Given the description of an element on the screen output the (x, y) to click on. 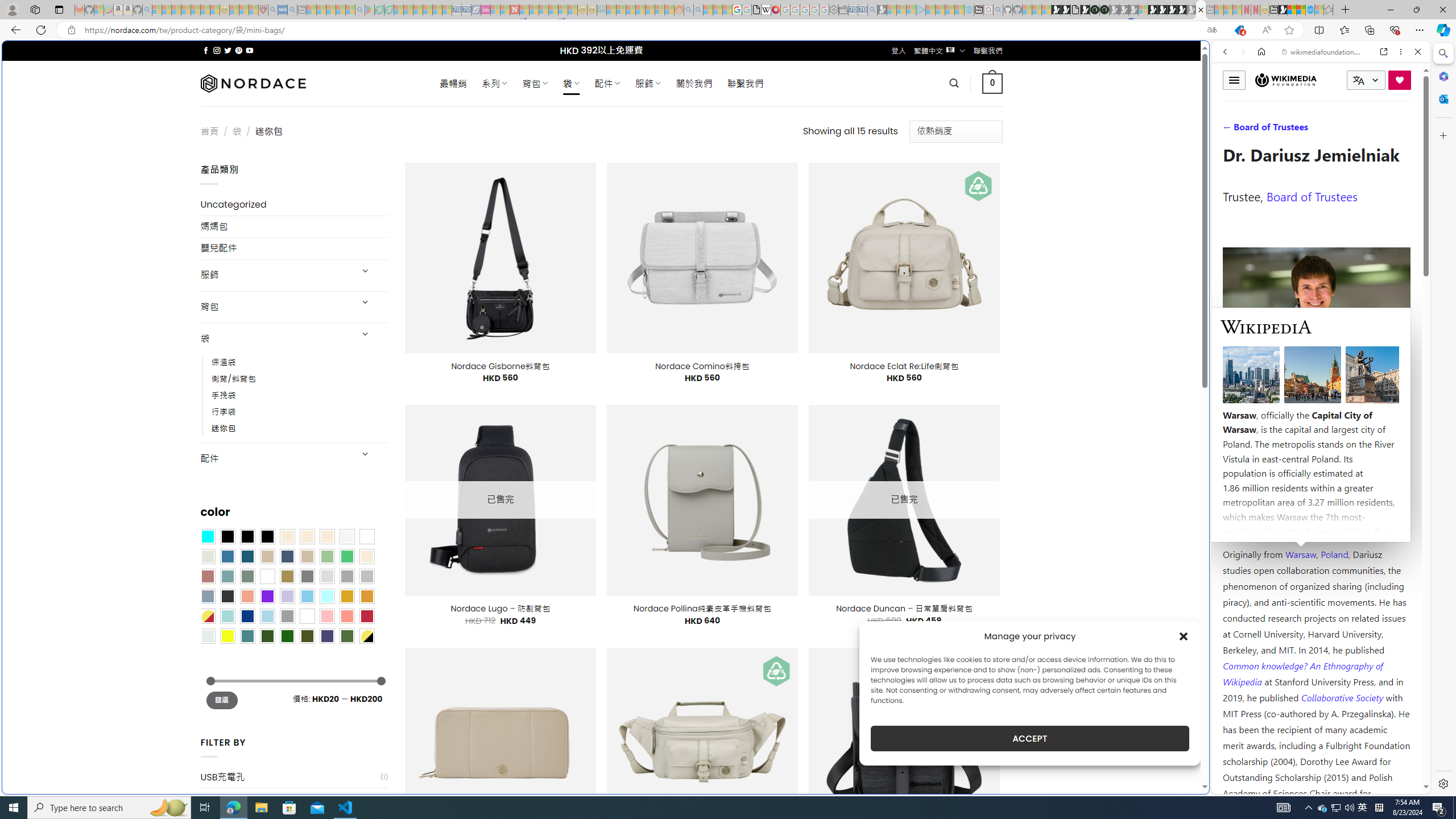
MSNBC - MSN - Sleeping (611, 9)
Class: b_serphb (1404, 130)
Wallet - Sleeping (843, 9)
Follow on Instagram (216, 50)
Open link in new tab (1383, 51)
MSN (1118, 536)
